Given the description of an element on the screen output the (x, y) to click on. 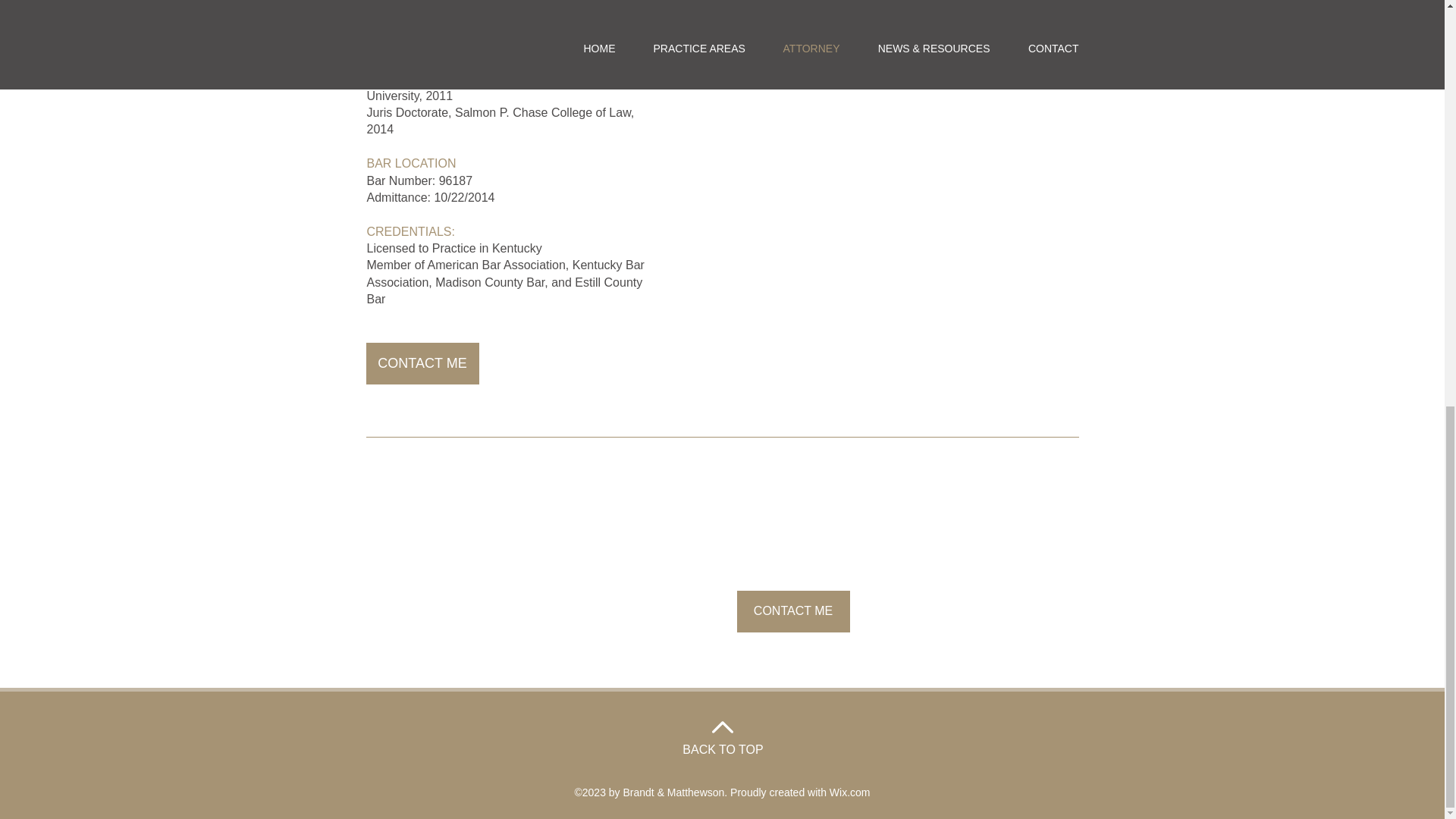
4443.jpeg (903, 24)
BACK TO TOP (722, 748)
CONTACT ME (422, 363)
CONTACT ME (793, 611)
